Given the description of an element on the screen output the (x, y) to click on. 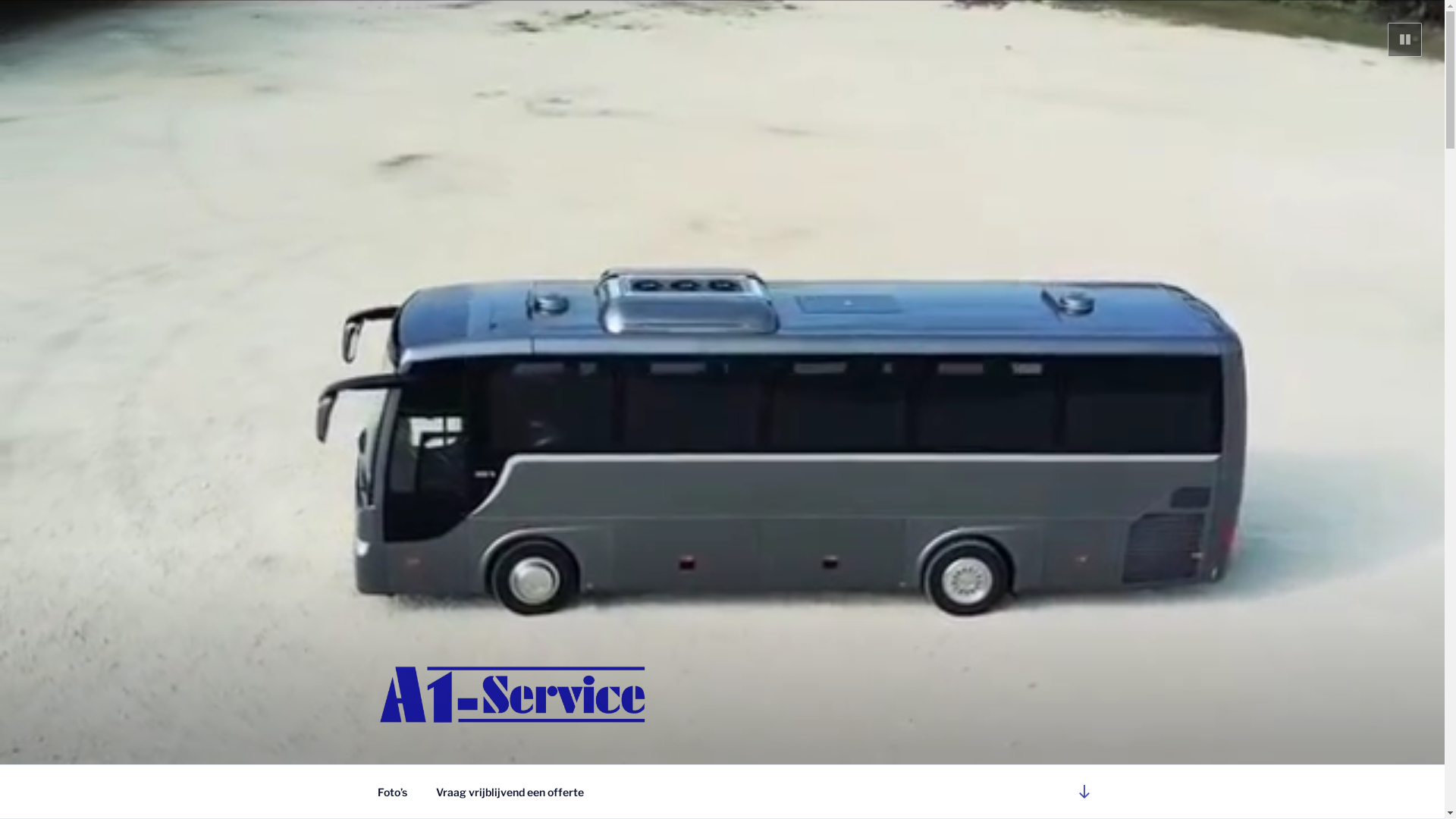
Pauzeer achtergrond video Element type: text (1404, 39)
Scroll omlaag naar de content Element type: text (1083, 790)
Vraag vrijblijvend een offerte Element type: text (510, 791)
